Given the description of an element on the screen output the (x, y) to click on. 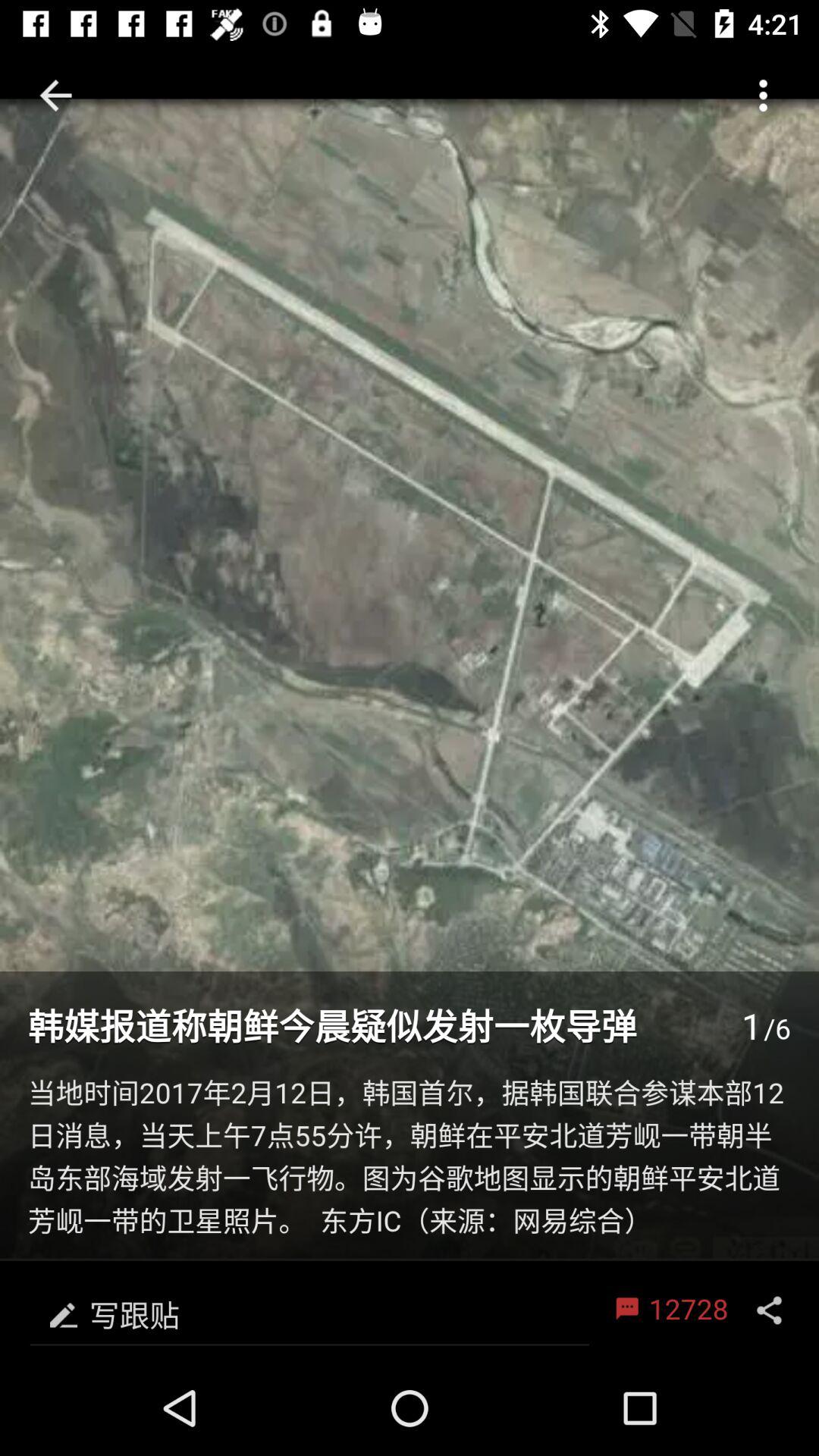
share icon (768, 1310)
